Given the description of an element on the screen output the (x, y) to click on. 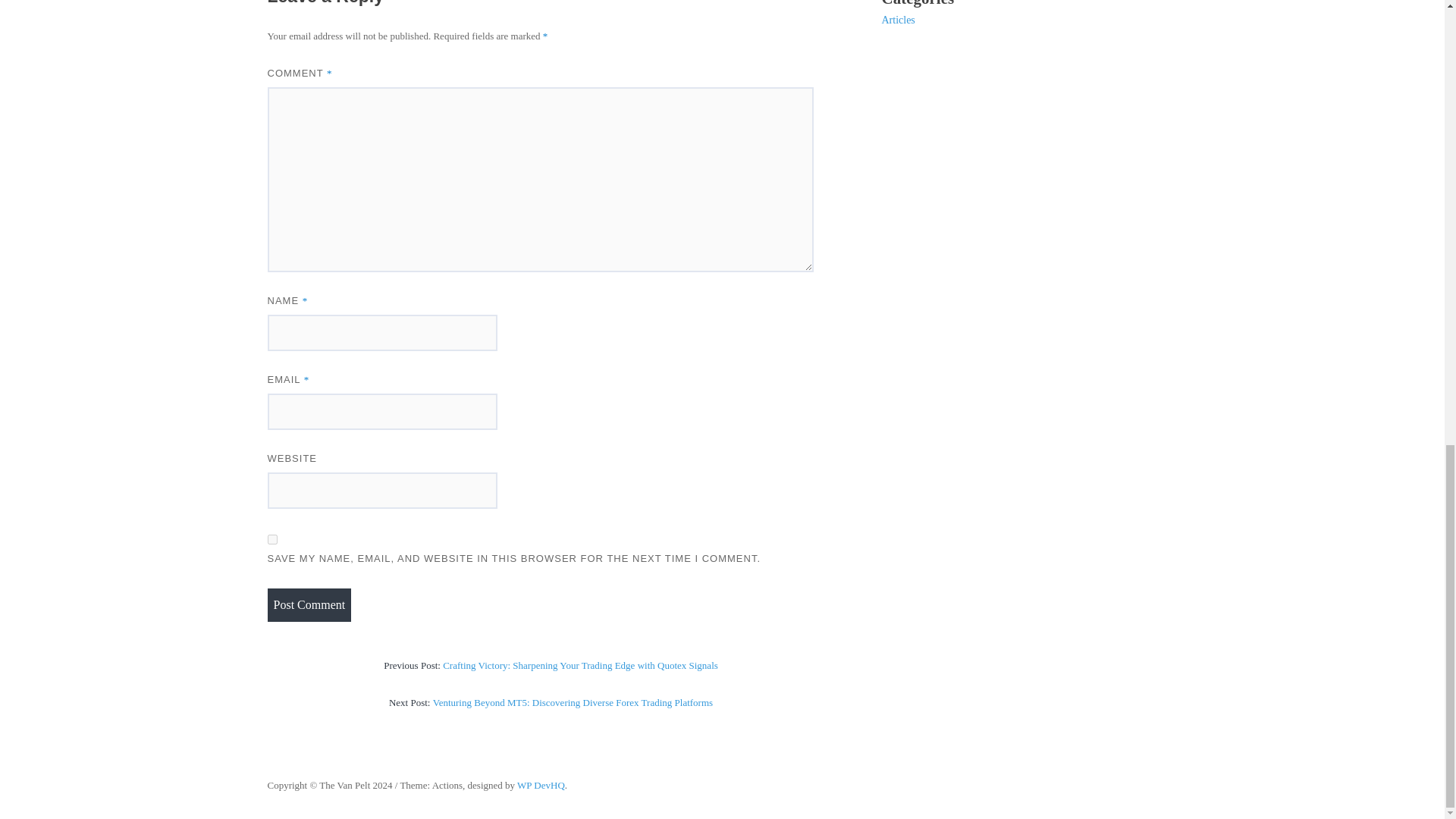
WP DevHQ (540, 785)
Post Comment (308, 604)
yes (271, 539)
Articles (897, 19)
Post Comment (308, 604)
Actions (540, 785)
